Given the description of an element on the screen output the (x, y) to click on. 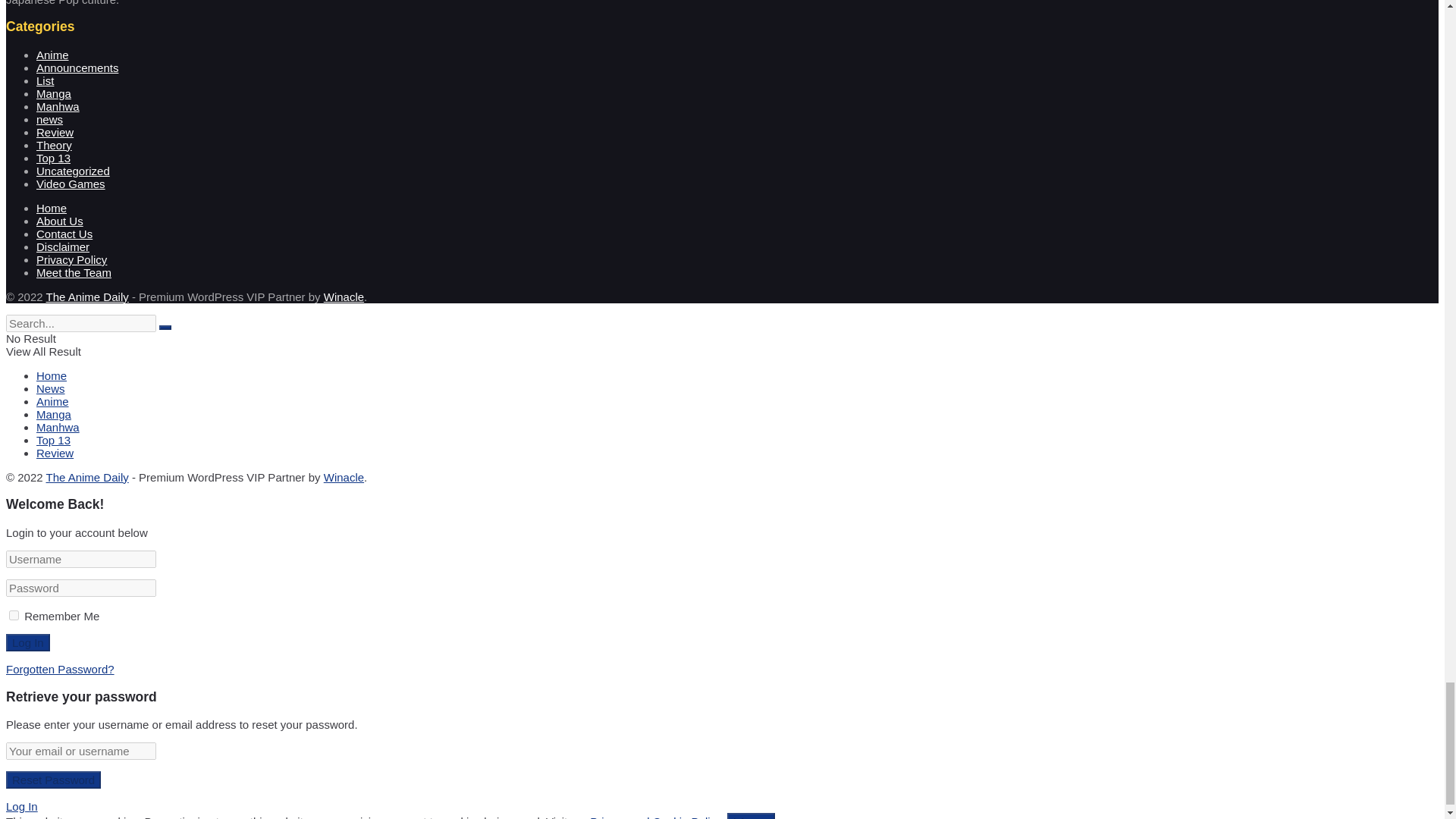
Log In (27, 642)
Winacle (343, 477)
Reset Password (52, 779)
Winacle (343, 296)
true (13, 614)
